Given the description of an element on the screen output the (x, y) to click on. 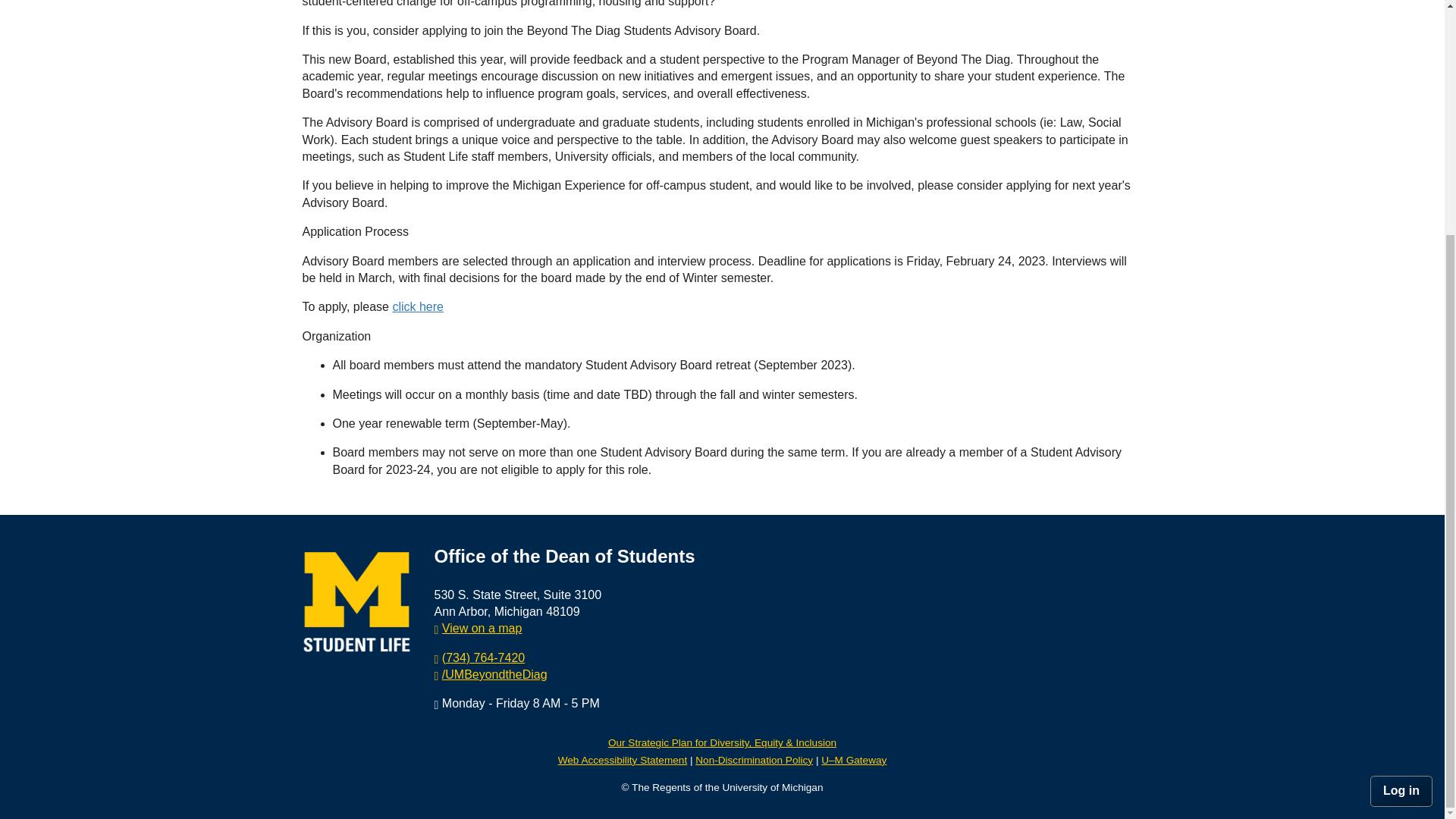
Non-Discrimination Policy (753, 759)
Log in (1401, 790)
click here (417, 306)
Web Accessibility Statement (622, 759)
View on a map (482, 627)
